Given the description of an element on the screen output the (x, y) to click on. 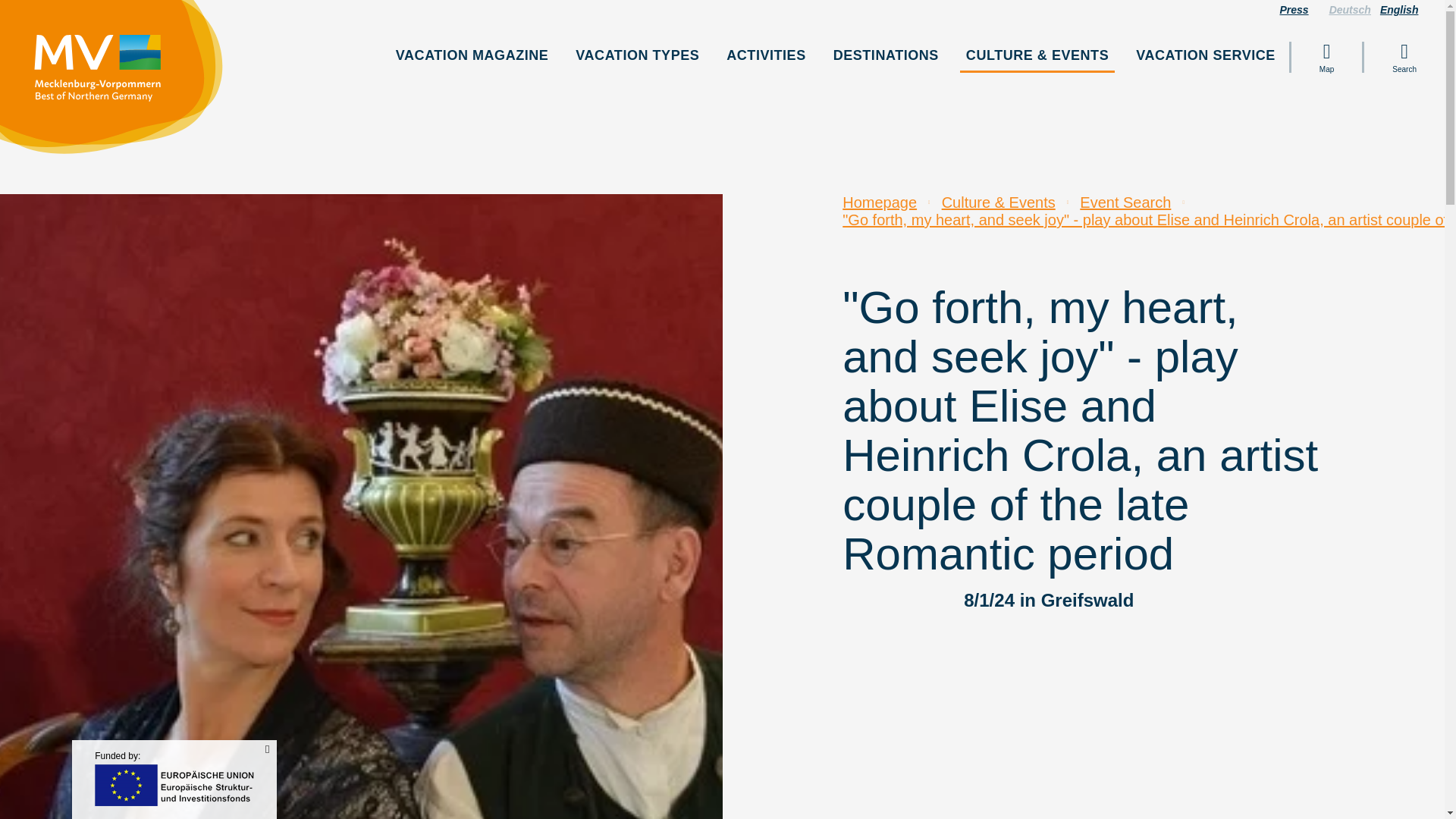
To the home page (119, 82)
Close overlay (266, 749)
VACATION MAGAZINE (472, 55)
